Given the description of an element on the screen output the (x, y) to click on. 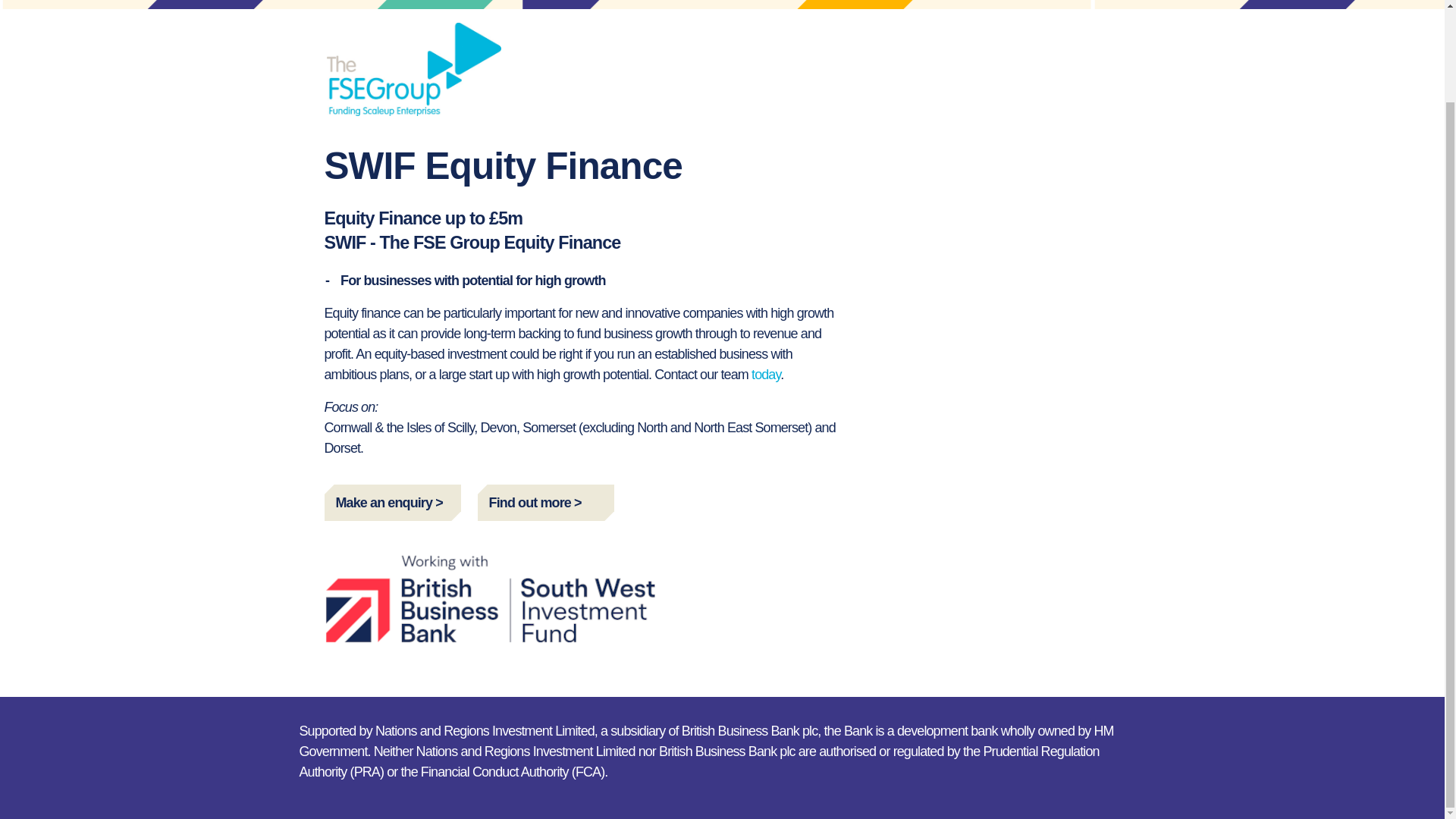
today (765, 374)
Make an enquiry (392, 502)
Find out more (545, 502)
Fund Manager: The FSE Group (413, 68)
